Given the description of an element on the screen output the (x, y) to click on. 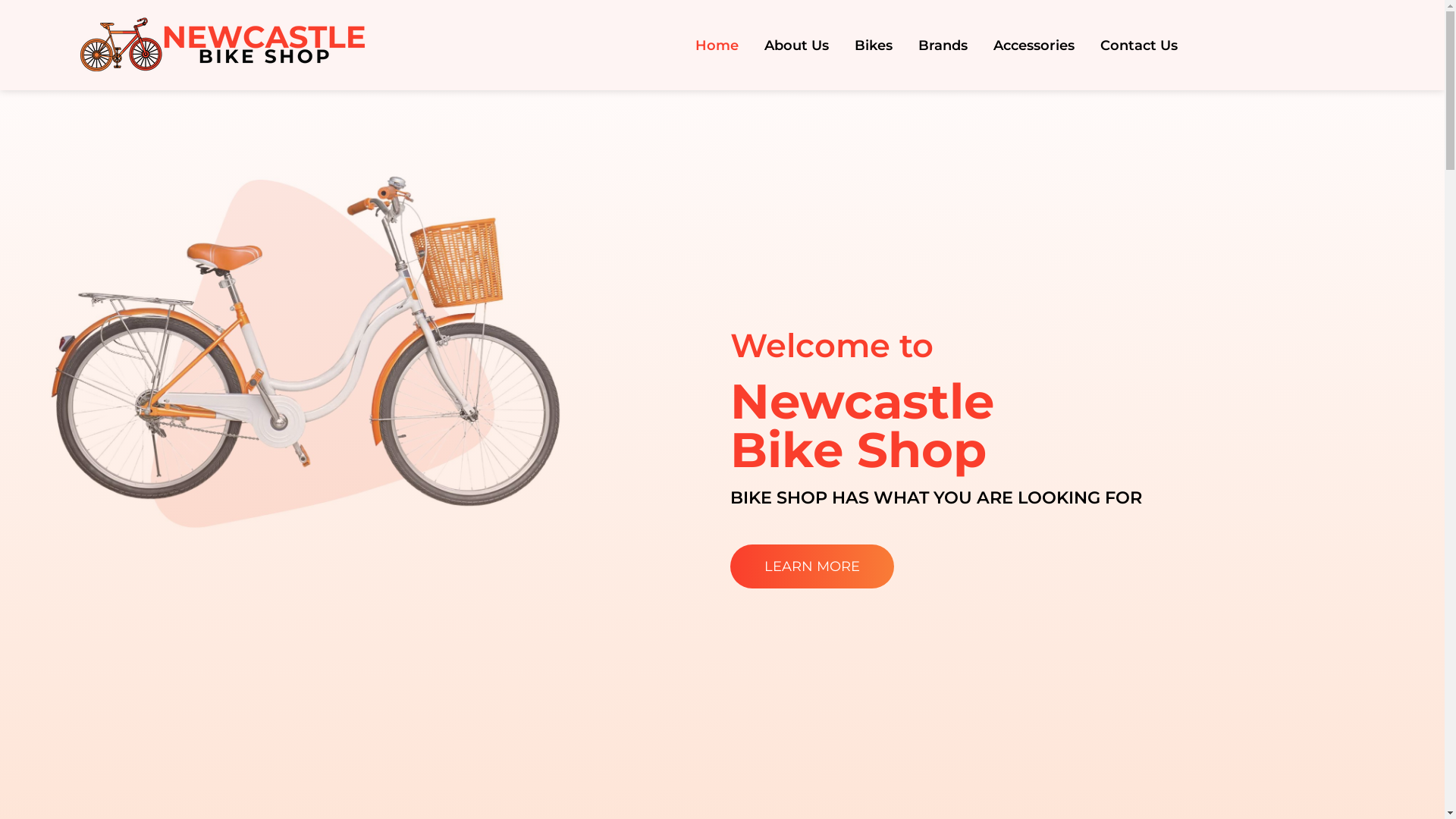
Bikes Element type: text (873, 44)
About Us Element type: text (796, 44)
LEARN MORE Element type: text (811, 566)
Contact Us Element type: text (1138, 44)
Home Element type: text (716, 44)
Accessories Element type: text (1033, 44)
Brands Element type: text (942, 44)
